Given the description of an element on the screen output the (x, y) to click on. 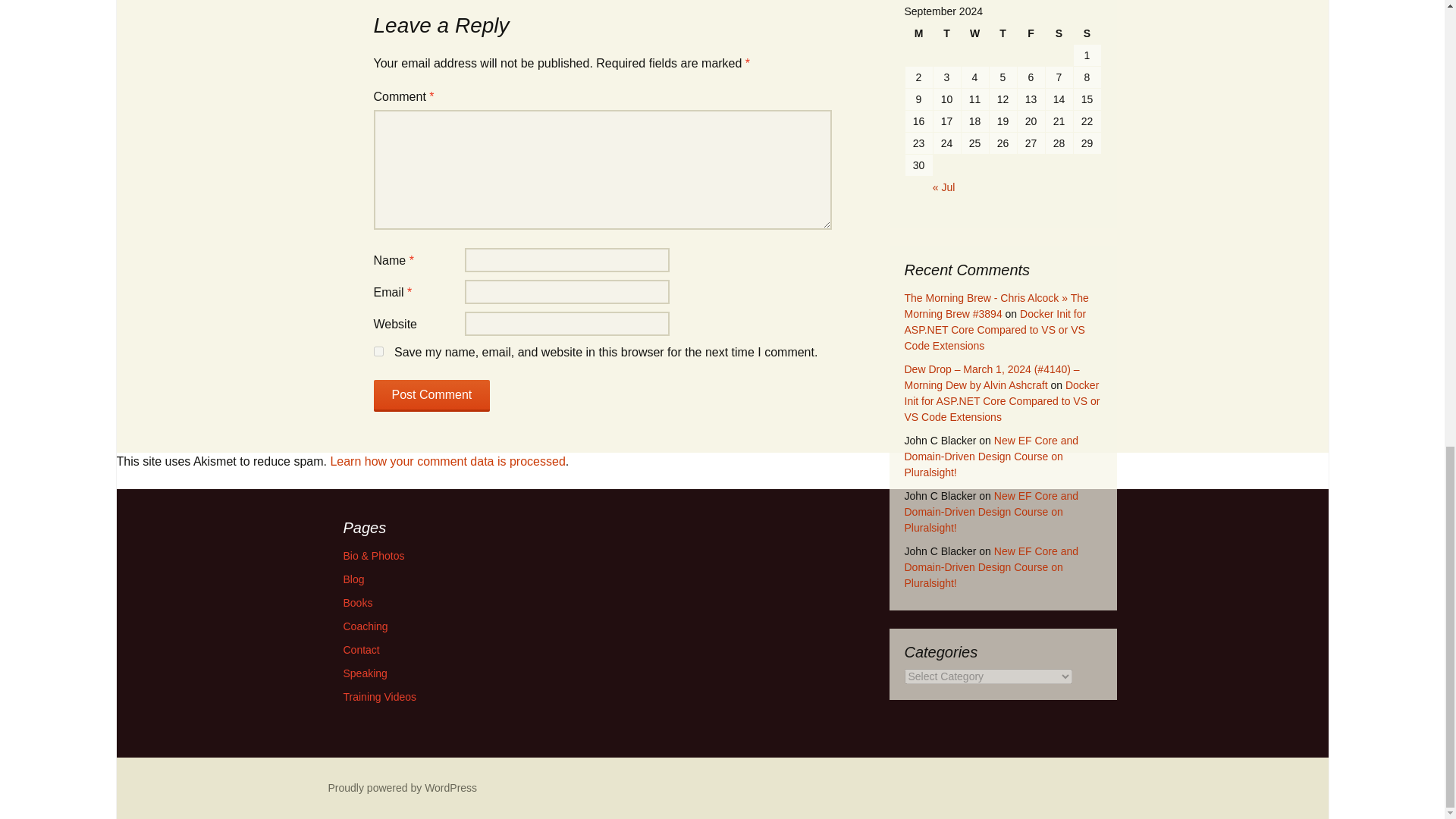
Sunday (1087, 33)
Post Comment (430, 395)
Thursday (1002, 33)
Post Comment (430, 395)
Wednesday (974, 33)
yes (377, 351)
Monday (919, 33)
Friday (1031, 33)
Learn how your comment data is processed (447, 461)
Saturday (1058, 33)
